Given the description of an element on the screen output the (x, y) to click on. 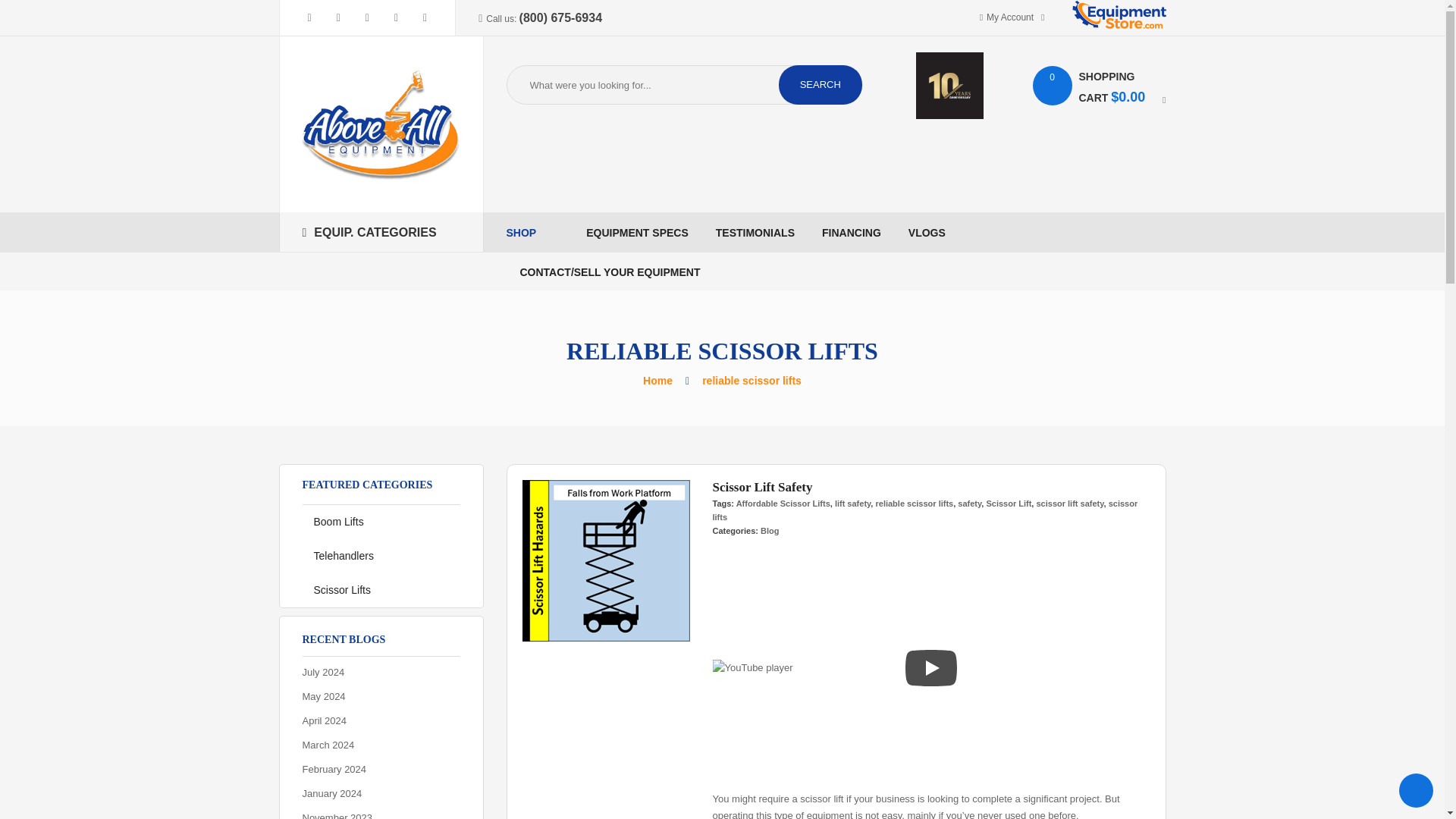
SHOP (532, 232)
Scissor Lift Safety (604, 560)
SEARCH (819, 84)
